Given the description of an element on the screen output the (x, y) to click on. 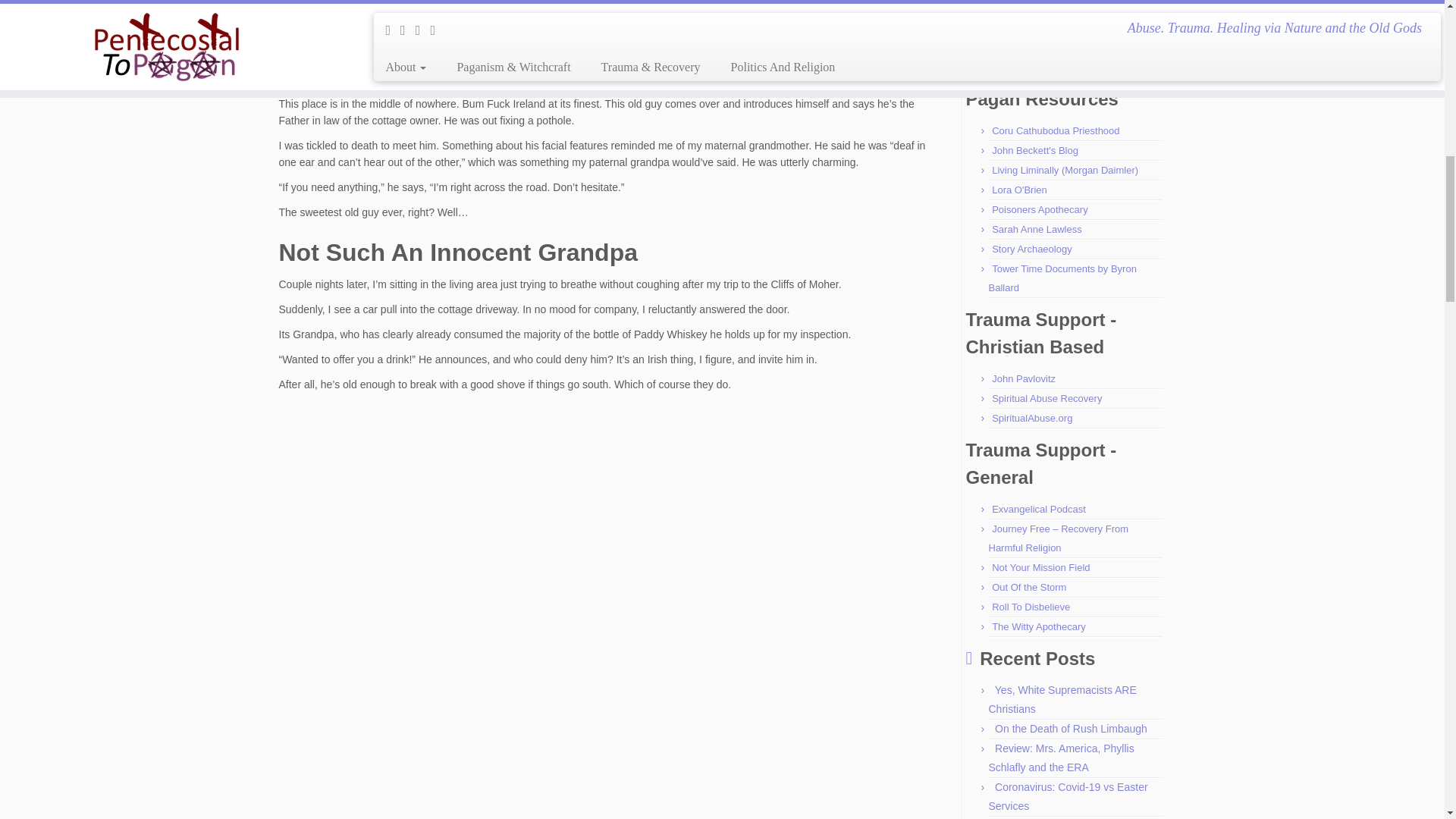
Tower Time Documents by Byron Ballard (1062, 277)
Coru Cathubodua Priesthood (1055, 130)
Lora O'Brien (1018, 189)
Poisoners Apothecary (1039, 209)
John Pavlovitz (1023, 378)
John Beckett's Blog (1034, 150)
Story Archaeology (1031, 248)
Spiritual Abuse Recovery (1046, 398)
Sarah Anne Lawless (1036, 229)
